Given the description of an element on the screen output the (x, y) to click on. 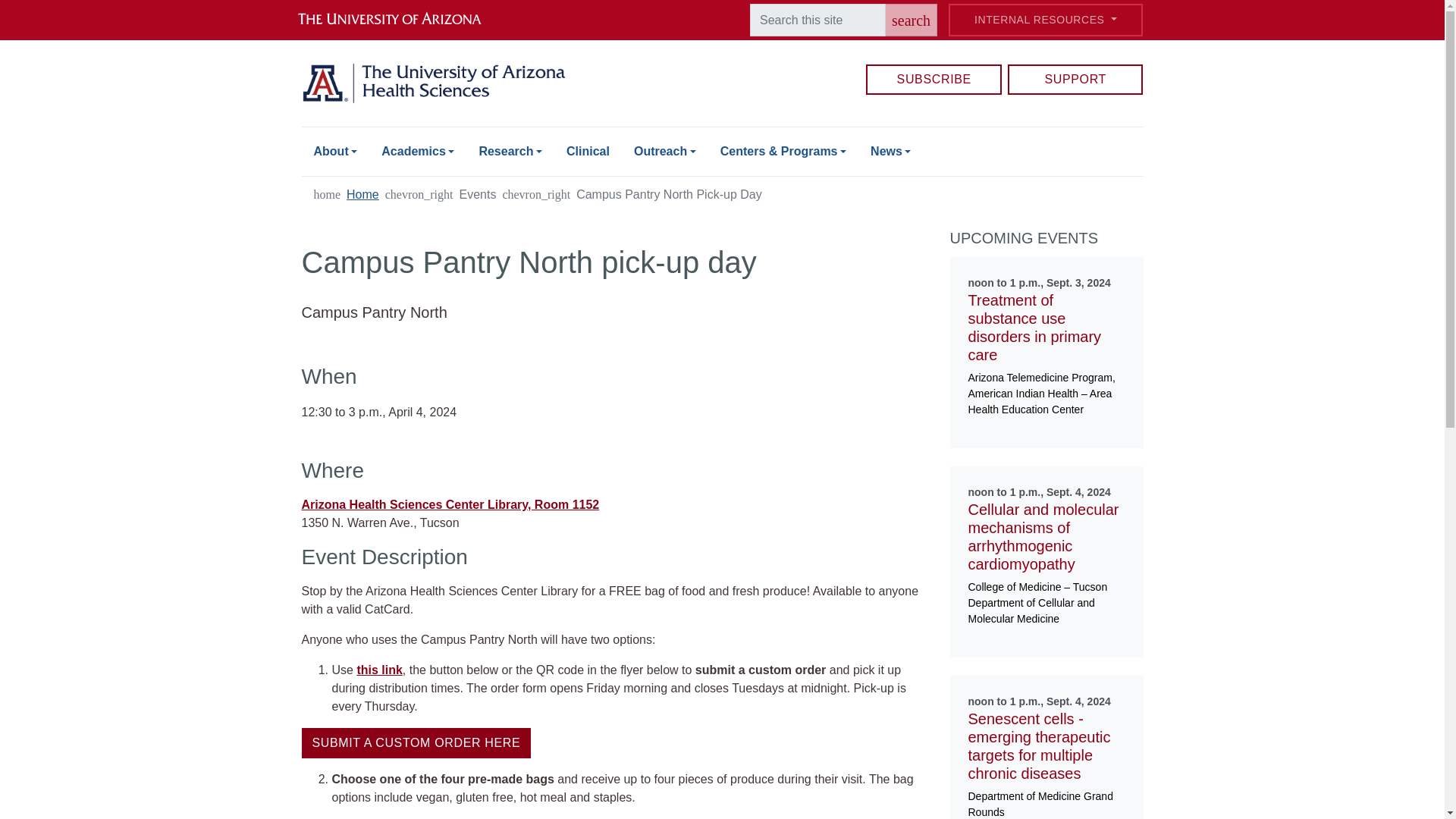
INTERNAL RESOURCES (1045, 20)
search (911, 20)
SUBSCRIBE (933, 79)
Enter the terms you wish to search for. (817, 20)
Academics (417, 151)
About (335, 151)
Research (509, 151)
Skip to main content (721, 1)
The University of Arizona homepage (401, 20)
SUPPORT (1074, 79)
